Given the description of an element on the screen output the (x, y) to click on. 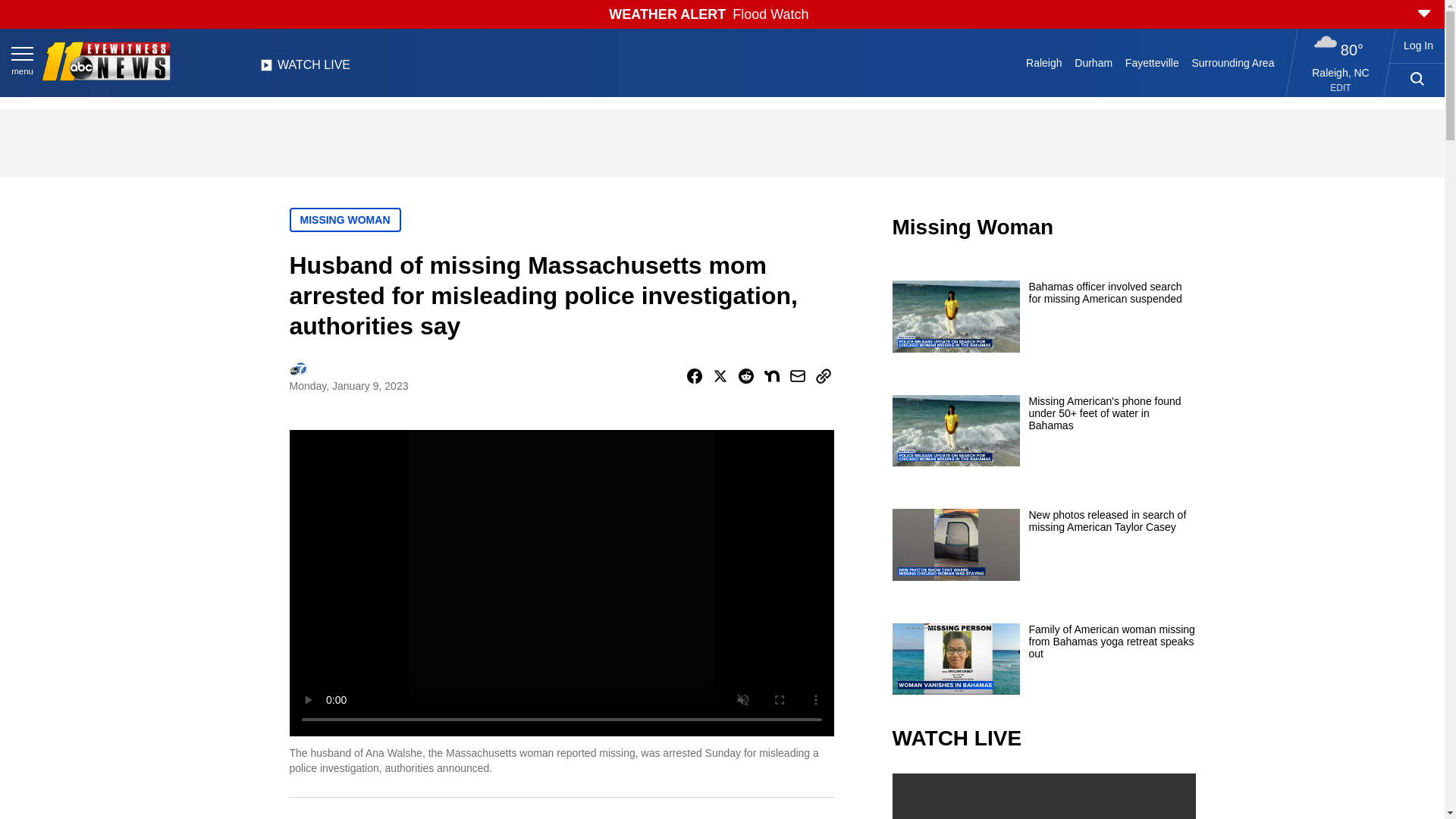
EDIT (1340, 87)
WATCH LIVE (305, 69)
Raleigh, NC (1340, 72)
Surrounding Area (1233, 62)
Raleigh (1044, 62)
video.title (1043, 796)
Durham (1093, 62)
Fayetteville (1151, 62)
